Given the description of an element on the screen output the (x, y) to click on. 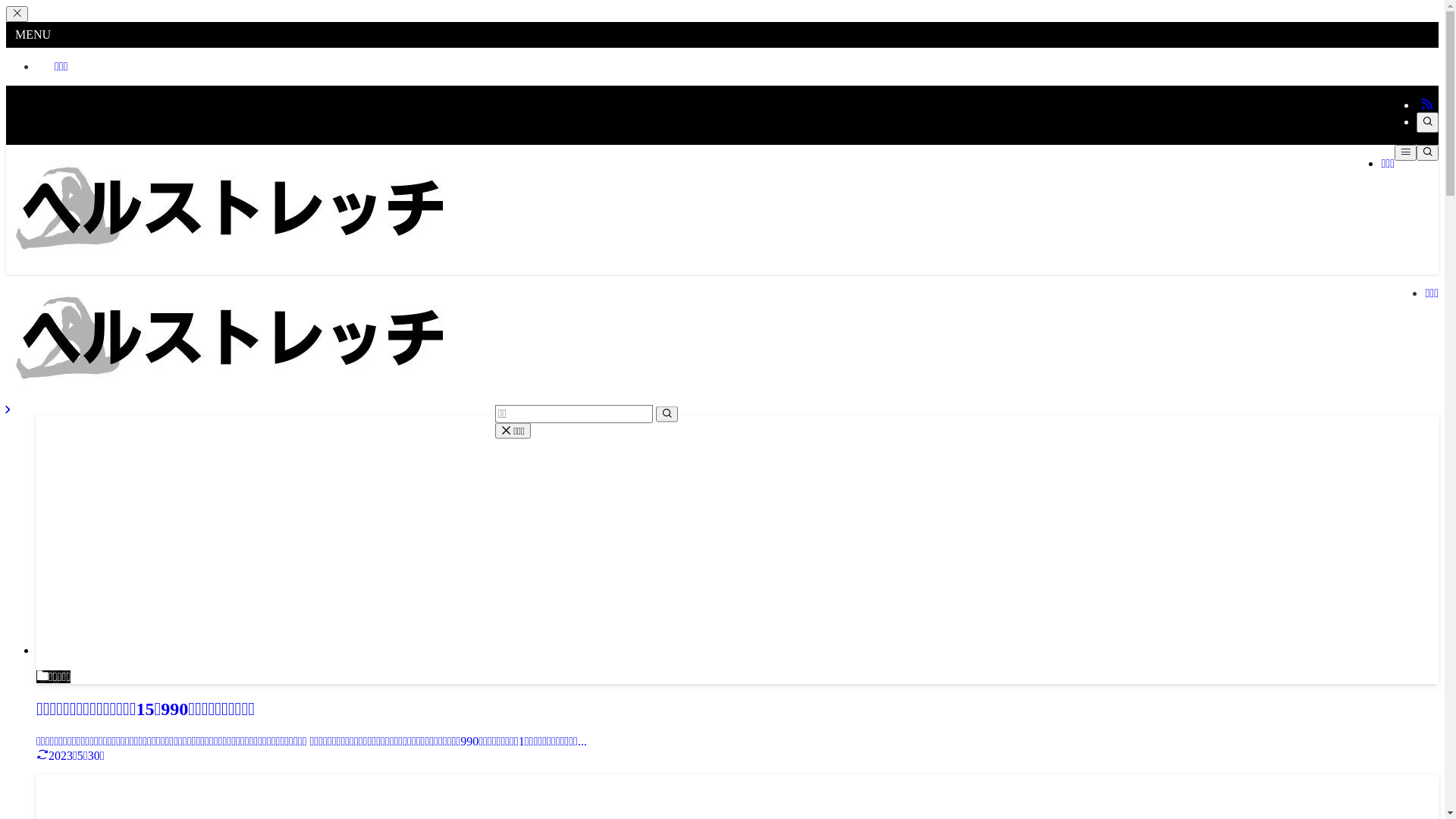
search Element type: text (666, 414)
